Given the description of an element on the screen output the (x, y) to click on. 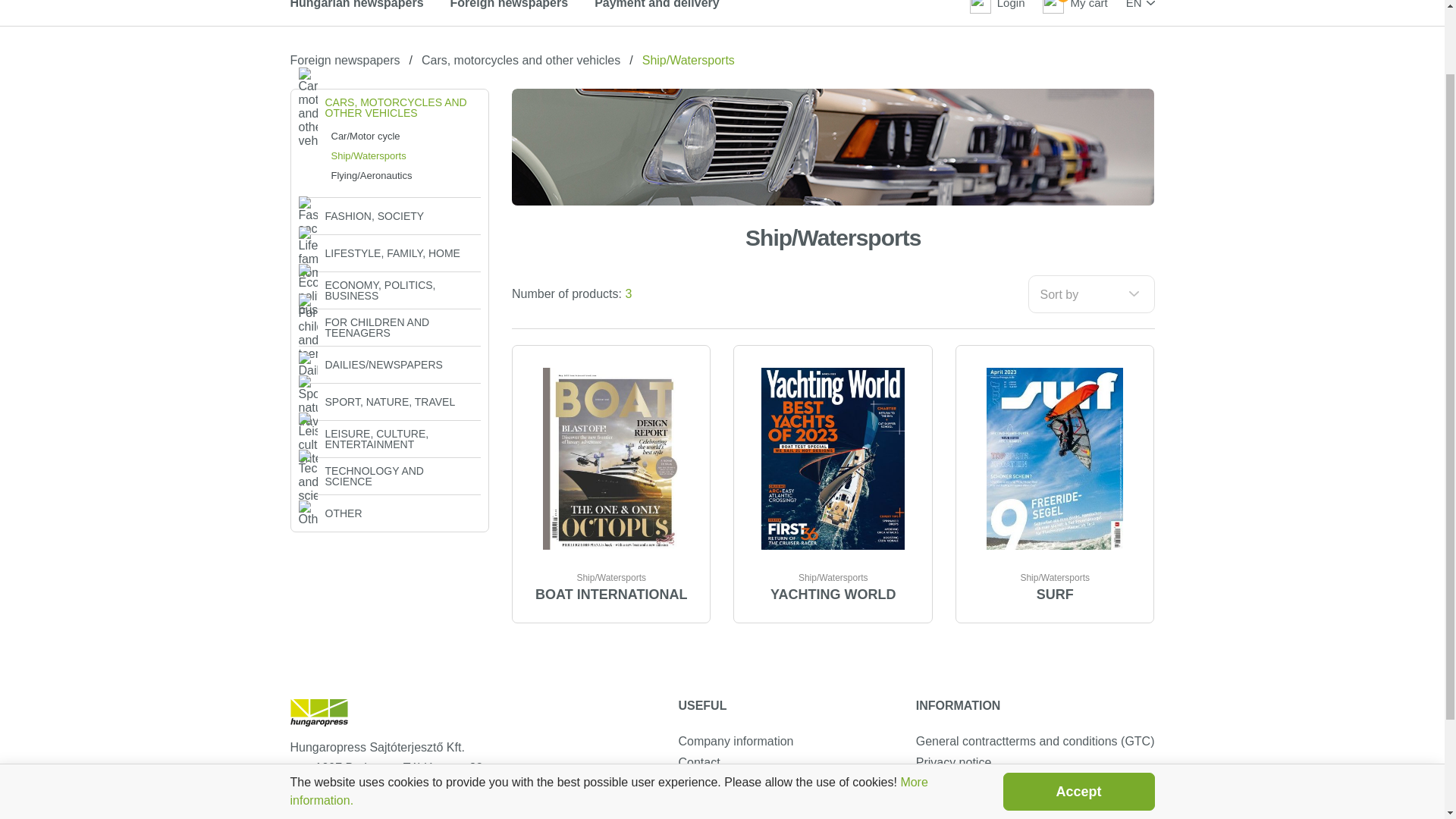
My cart (1074, 6)
Payment and delivery (656, 4)
Login (997, 6)
EN (1139, 4)
Hungarian newspapers (356, 4)
Hungarian newspapers (356, 4)
Foreign newspapers (509, 4)
